Given the description of an element on the screen output the (x, y) to click on. 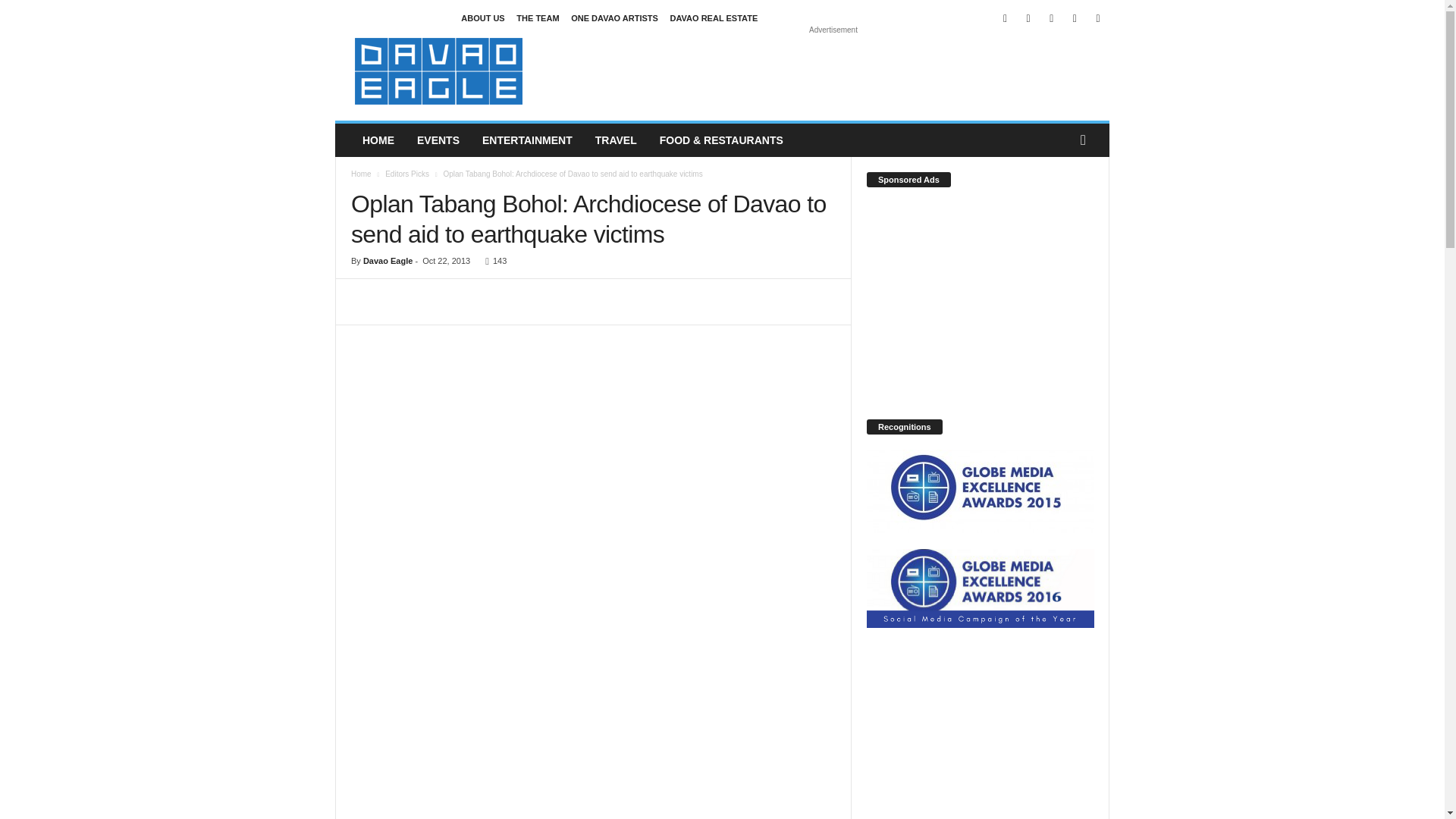
HOME (378, 140)
ENTERTAINMENT (526, 140)
Davao Eagle Online (437, 70)
ABOUT US (482, 17)
Davao Eagle Online (437, 70)
Editors Picks (407, 173)
Home (360, 173)
Davao Eagle (387, 260)
DAVAO REAL ESTATE (713, 17)
THE TEAM (537, 17)
ONE DAVAO ARTISTS (614, 17)
View all posts in Editors Picks (407, 173)
TRAVEL (615, 140)
EVENTS (438, 140)
